Given the description of an element on the screen output the (x, y) to click on. 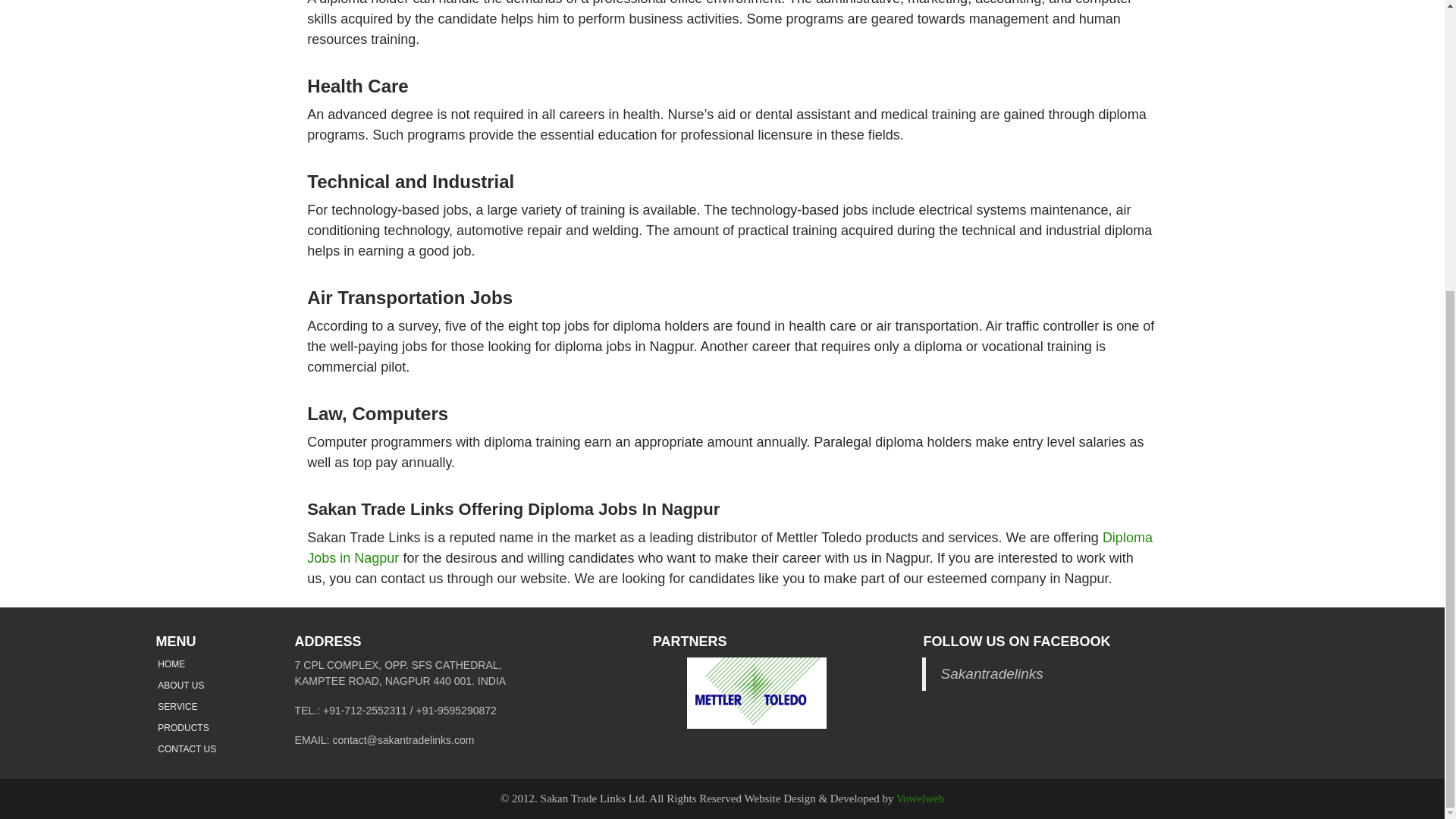
Vowelweb (919, 798)
Sakantradelinks (991, 673)
Diploma Jobs in Nagpur (730, 547)
PRODUCTS (182, 727)
SERVICE (176, 706)
CONTACT US (186, 748)
ABOUT US (180, 685)
HOME (170, 664)
